Given the description of an element on the screen output the (x, y) to click on. 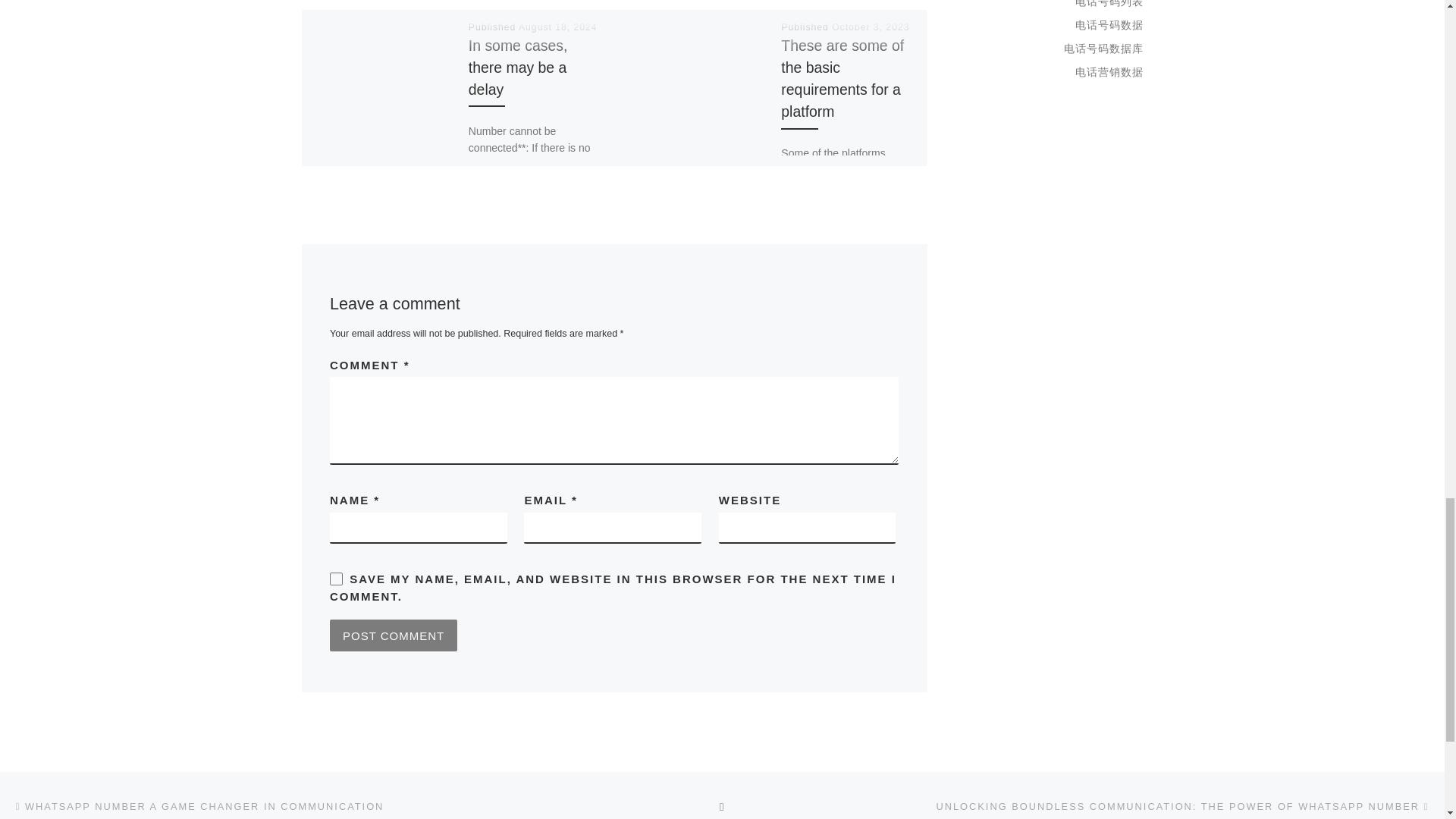
Post Comment (393, 635)
In some cases, there may be a delay (517, 66)
October 3, 2023 (869, 27)
yes (336, 578)
These are some of the basic requirements for a platform (842, 77)
August 18, 2024 (557, 27)
